Given the description of an element on the screen output the (x, y) to click on. 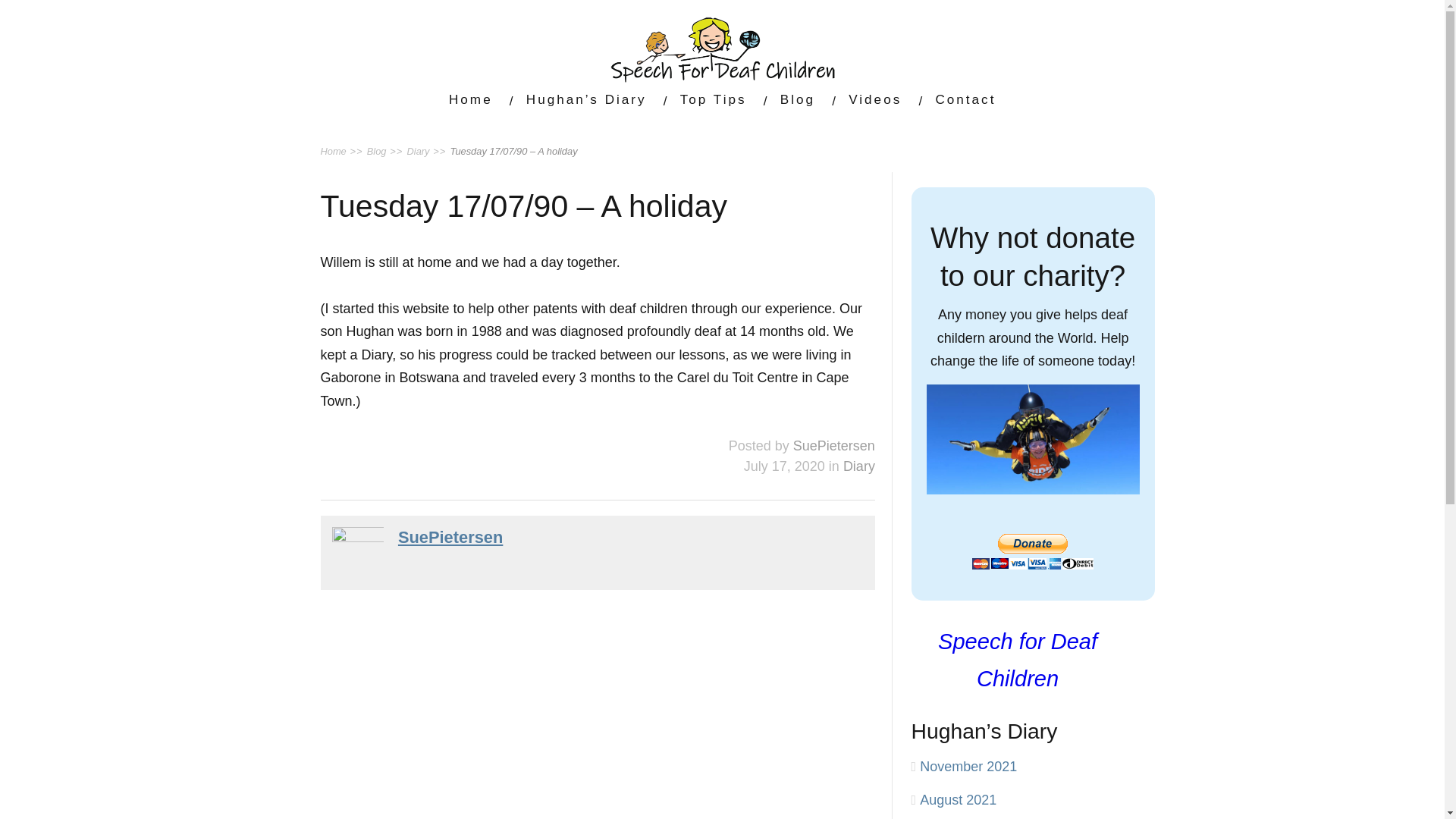
November 2021 (968, 766)
August 2021 (957, 799)
Home (470, 99)
Diary (859, 466)
Contact (965, 99)
Top Tips (713, 99)
Speech for Deaf Children (1017, 660)
SuePietersen (449, 537)
SuePietersen (834, 445)
PayPal - The safer, easier way to pay online! (1032, 551)
